Given the description of an element on the screen output the (x, y) to click on. 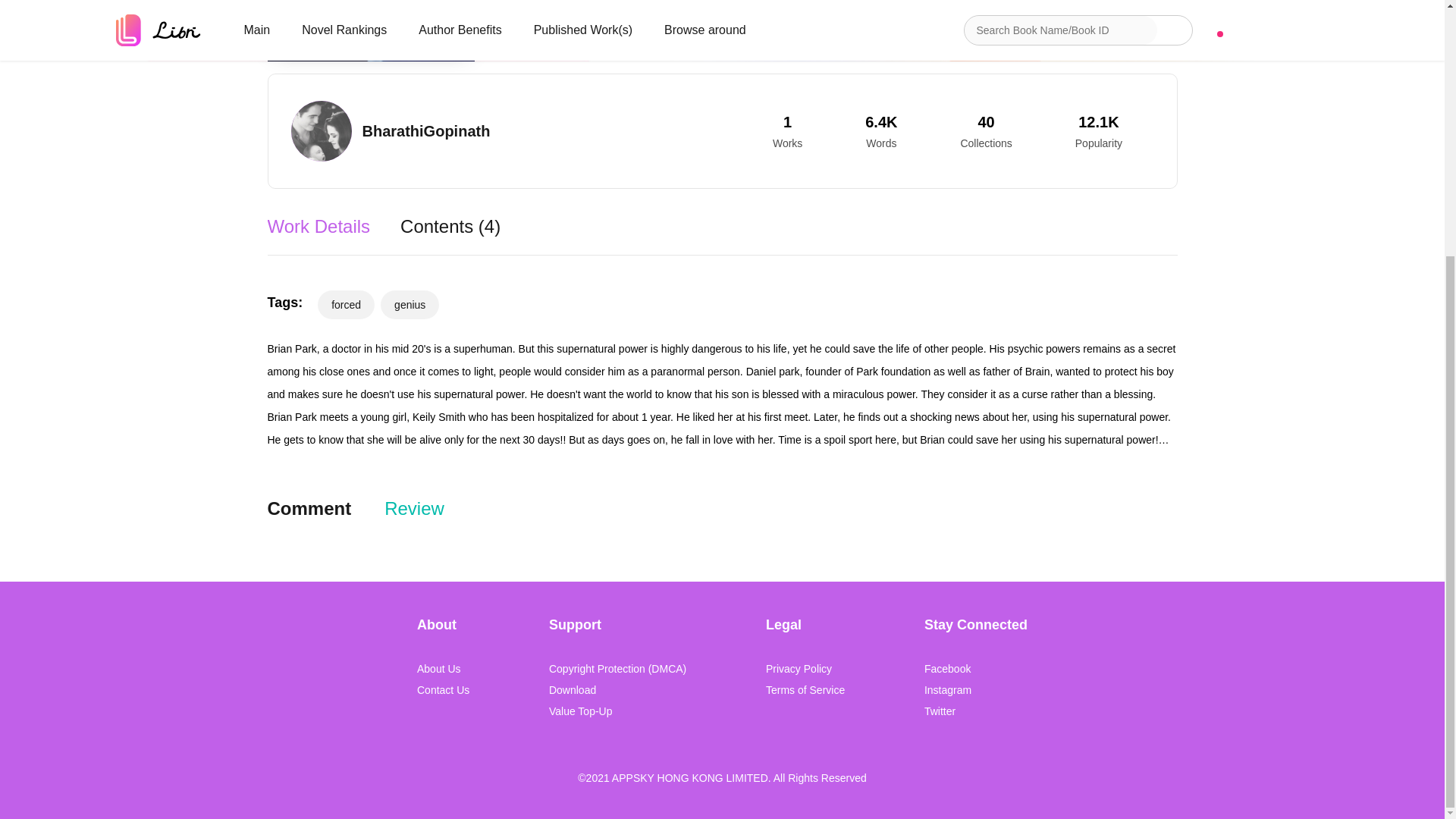
Value Top-Up (616, 711)
Instagram (975, 690)
About Us (442, 668)
Contact Us (442, 690)
Download (616, 690)
Read on mobile device (975, 23)
Twitter (975, 711)
Add to Library (788, 23)
Terms of Service (804, 690)
Privacy Policy (804, 668)
Facebook (975, 668)
Read (592, 23)
